Given the description of an element on the screen output the (x, y) to click on. 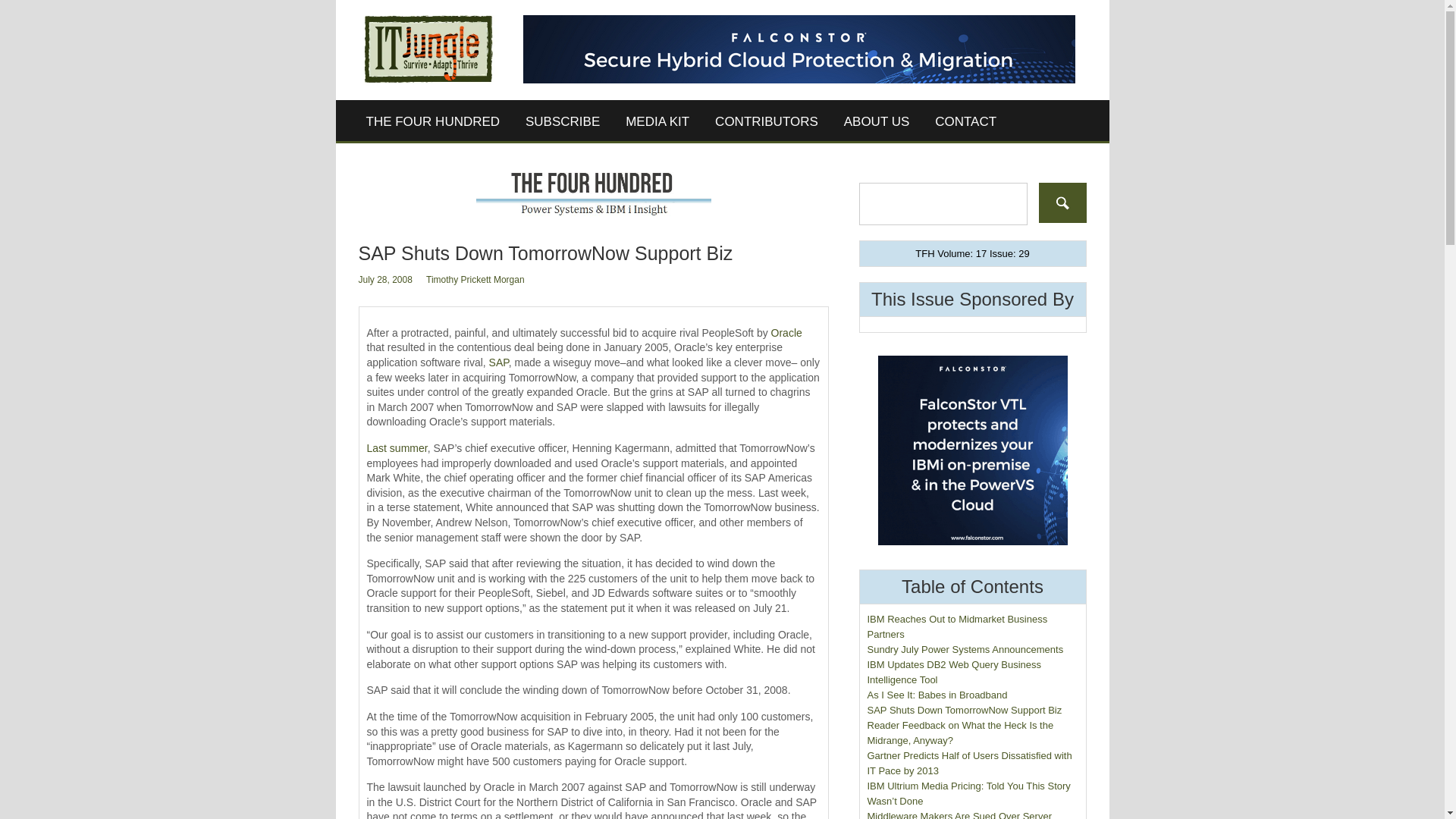
MEDIA KIT (657, 121)
ABOUT US (876, 121)
SAP (498, 362)
CONTRIBUTORS (766, 121)
Oracle (786, 332)
Search (1062, 202)
SUBSCRIBE (562, 121)
THE FOUR HUNDRED (433, 121)
Last summer (397, 448)
CONTACT (965, 121)
